Given the description of an element on the screen output the (x, y) to click on. 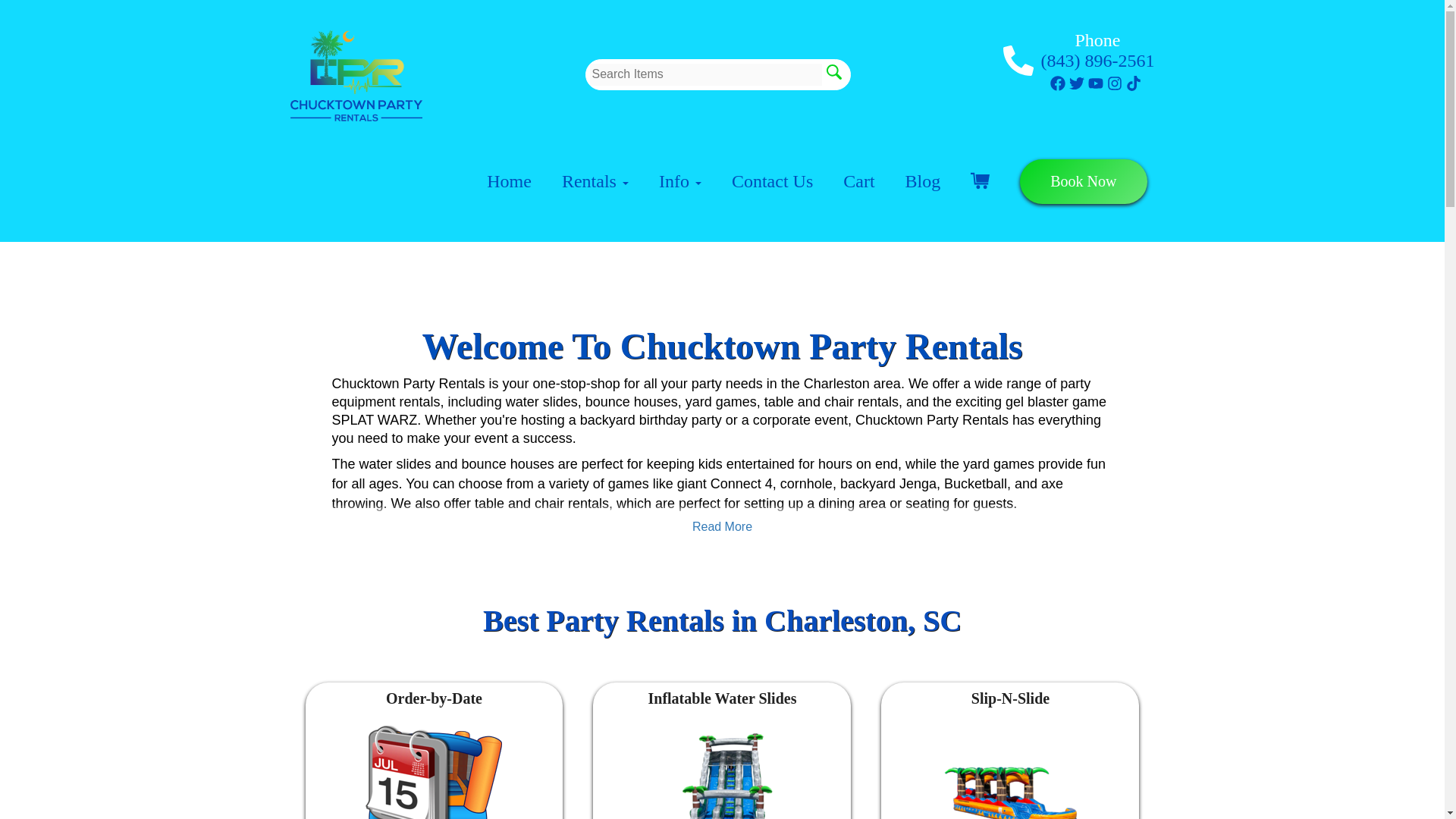
Chucktown Party Rentals TikTok (1133, 82)
Cart (859, 181)
Read More (722, 526)
Blog (922, 181)
Book Now (1083, 180)
Chucktown Party Rentals Instagram (1114, 82)
Home (508, 181)
Rentals (595, 181)
Slip-N-Slide (1010, 772)
Contact Us (772, 181)
Order-by-Date (433, 772)
Chucktown Party Rentals YouTube (1095, 82)
Chucktown Party Rentals Facebook (1057, 82)
Inflatable Water Slides (721, 772)
Info (680, 181)
